Given the description of an element on the screen output the (x, y) to click on. 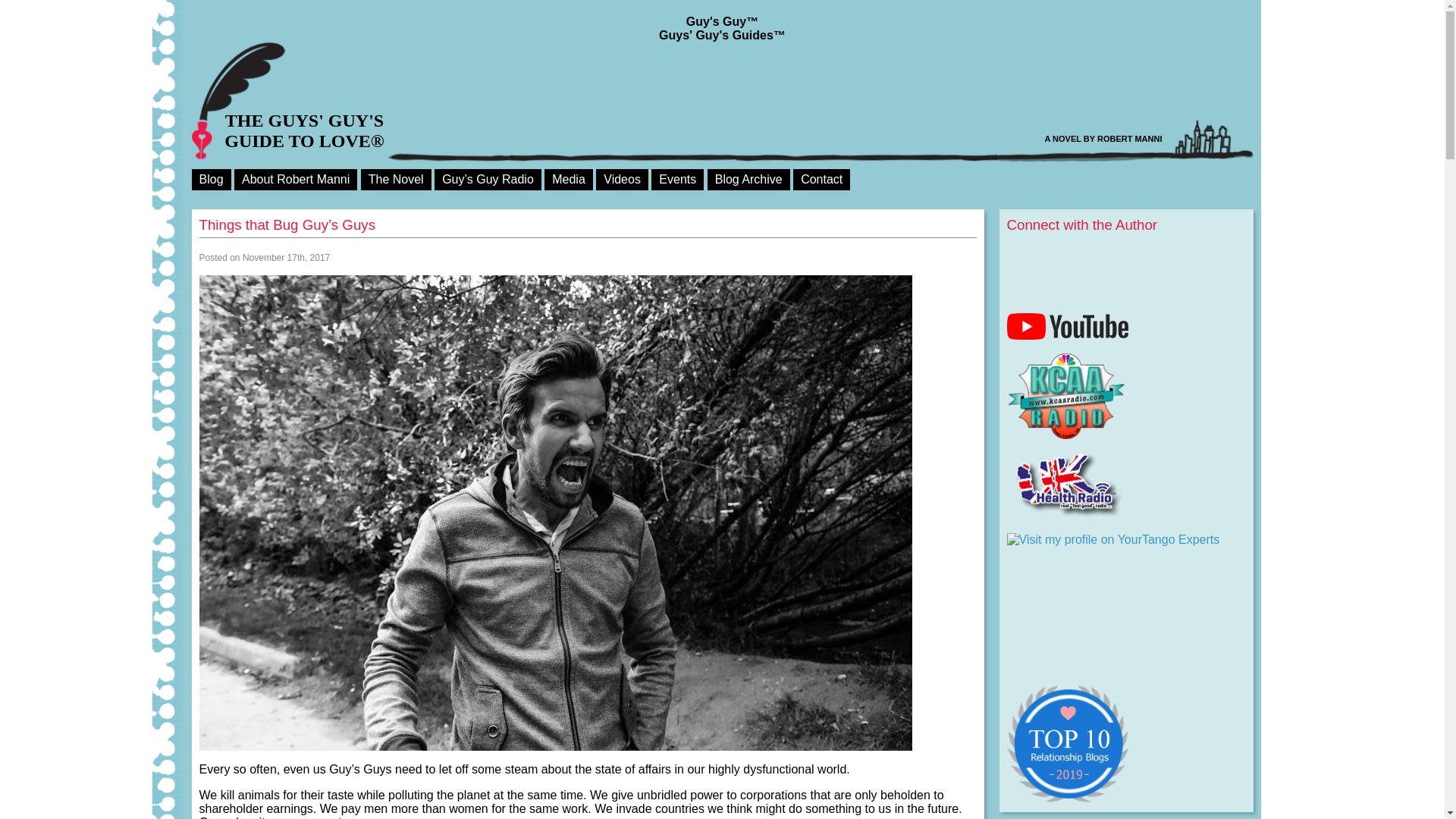
Events (676, 179)
Blog (210, 179)
Media (568, 179)
Blog Archive (748, 179)
Twitter Follow Button (1126, 255)
Videos (621, 179)
Contact (821, 179)
The Novel (395, 179)
About Robert Manni (295, 179)
